Given the description of an element on the screen output the (x, y) to click on. 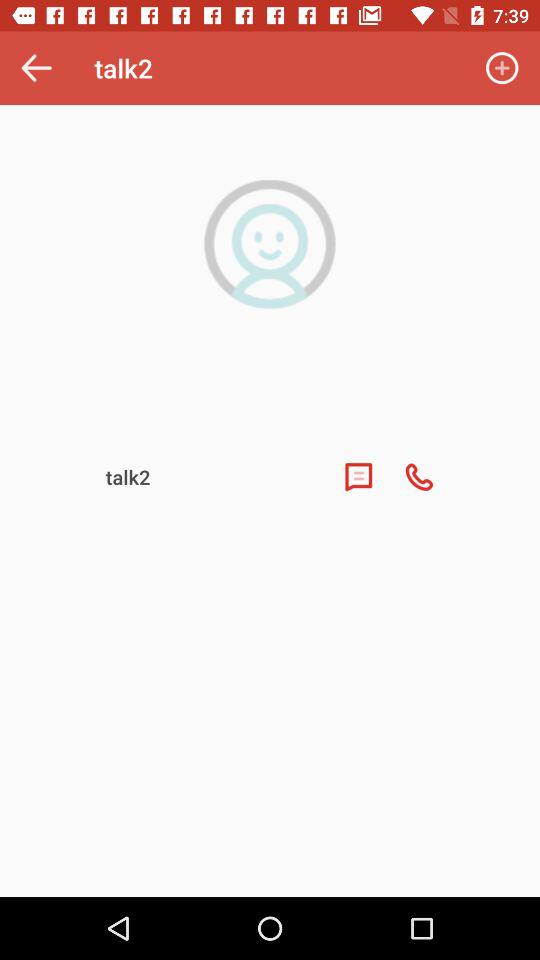
press to call (419, 477)
